Given the description of an element on the screen output the (x, y) to click on. 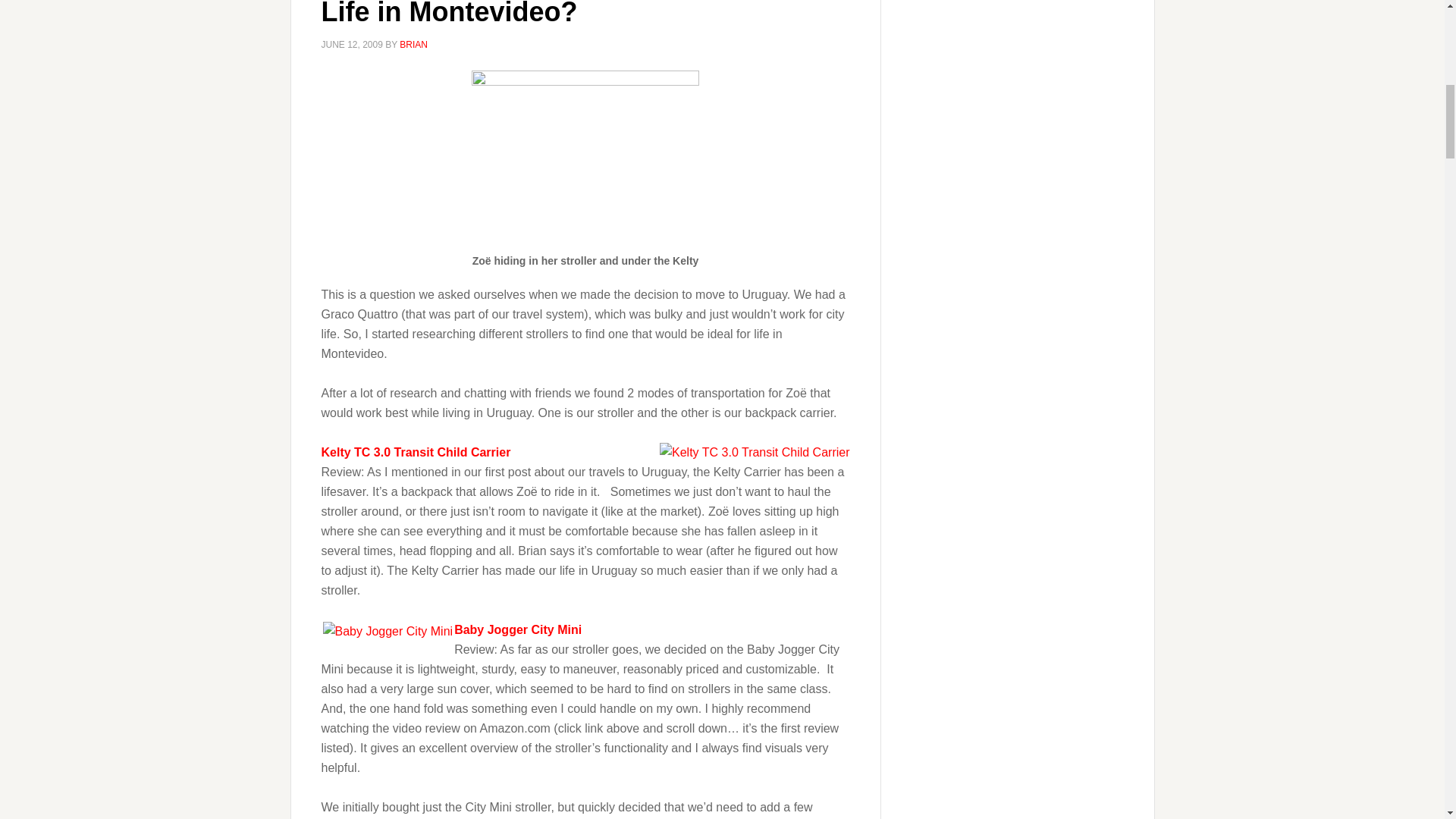
Kelty TC 3.0 Transit Child Carrier  (753, 452)
What Type of Stroller-Works-Best-for-Life-in-Montevideo (584, 162)
Baby Jogger City Mini Stroller (517, 629)
Baby Jogger City Mini  (387, 631)
Kelty TC 3.0 Transit Child Carrier  (416, 451)
